Given the description of an element on the screen output the (x, y) to click on. 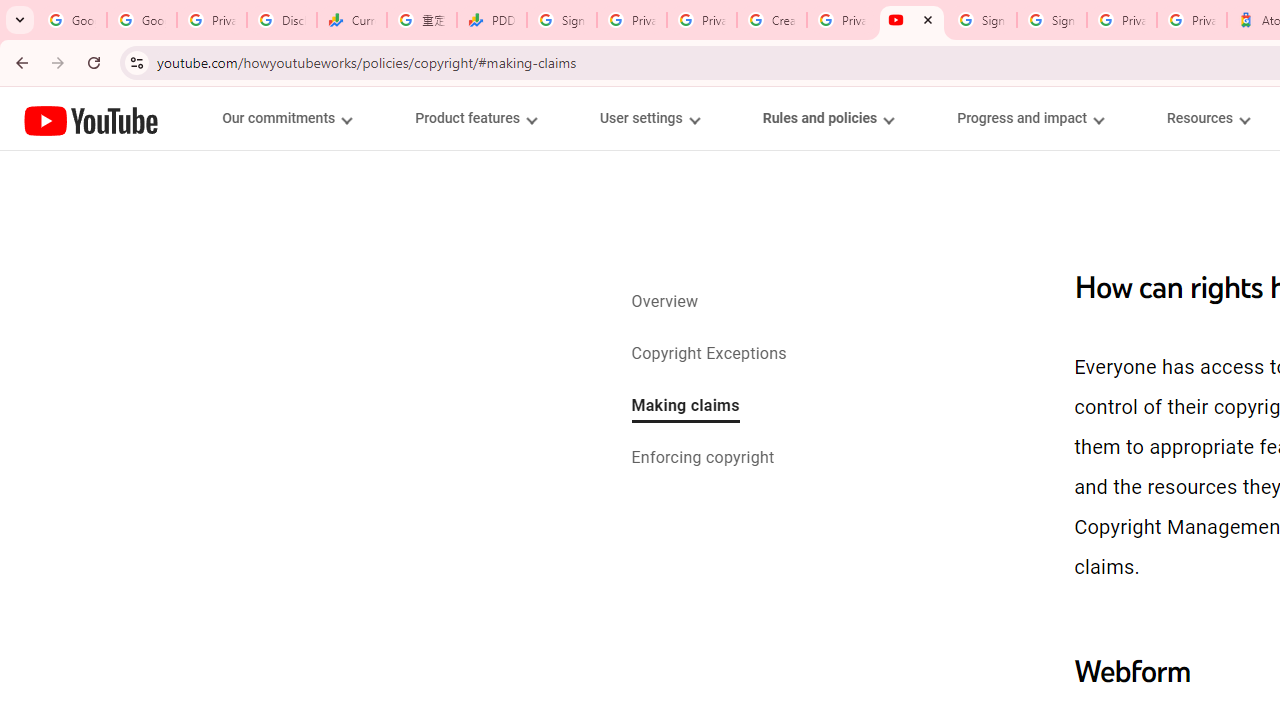
Back (19, 62)
Privacy Checkup (701, 20)
Search tabs (20, 20)
YouTube Copyright Rules & Policies - How YouTube Works (911, 20)
Rules and policies menupopup (827, 118)
User settings menupopup (648, 118)
Close (927, 19)
Product features menupopup (475, 118)
JUMP TO CONTENT (209, 119)
Google Workspace Admin Community (72, 20)
PDD Holdings Inc - ADR (PDD) Price & News - Google Finance (492, 20)
YouTube (91, 120)
Overview (664, 303)
Currencies - Google Finance (351, 20)
